Given the description of an element on the screen output the (x, y) to click on. 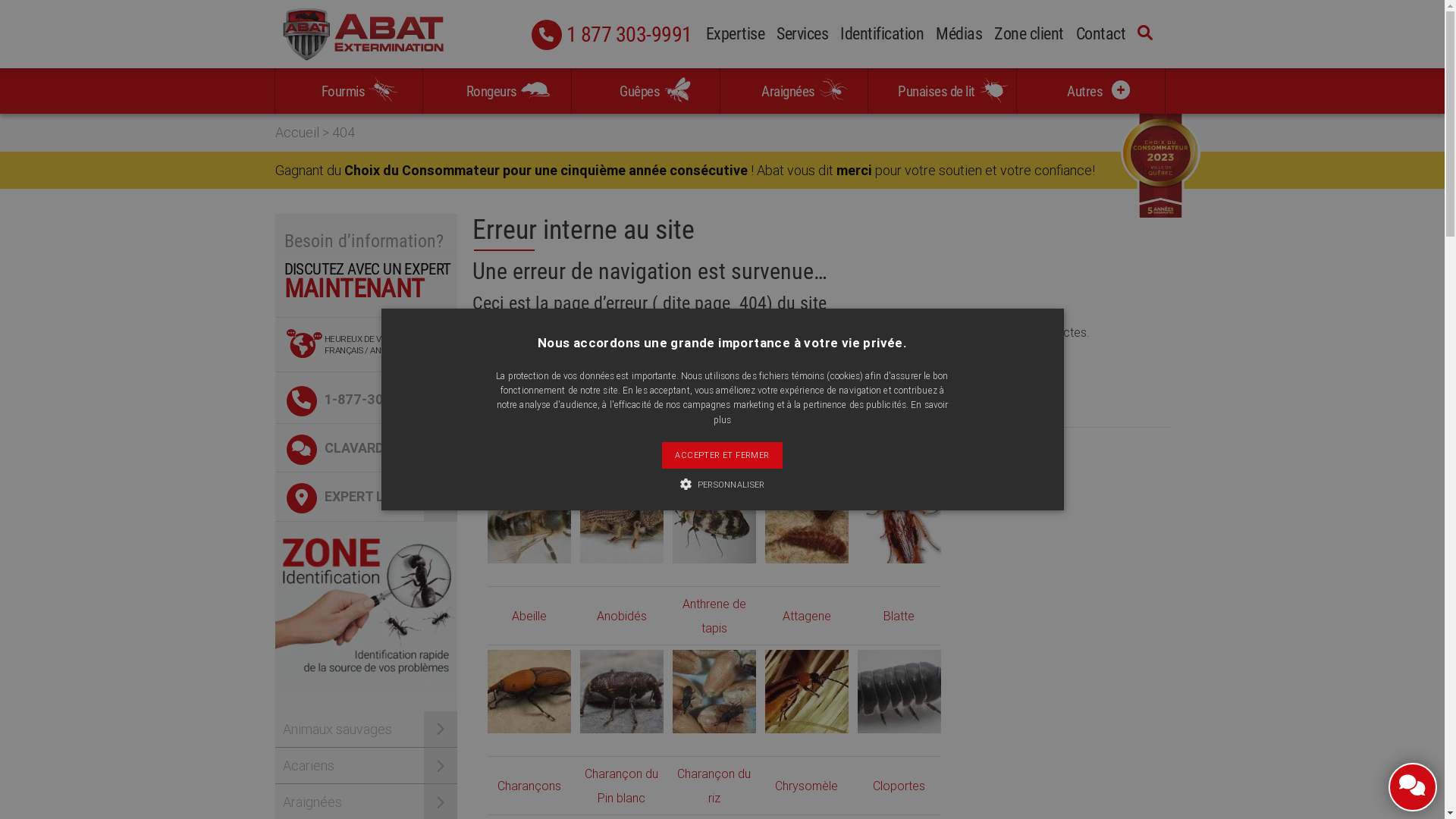
attagene Element type: hover (805, 521)
Attagene Element type: text (806, 615)
Fourmis Element type: text (348, 90)
anobides Element type: hover (620, 521)
Zone client Element type: text (1029, 35)
Skip to primary navigation Element type: text (0, 0)
Contact Element type: text (1100, 35)
Abeille Element type: text (528, 615)
Page d accueil Abat extermination Element type: text (562, 366)
1-877-303-9991 Element type: text (365, 399)
charancon-du-riz Element type: hover (713, 691)
Expertise Element type: text (734, 35)
Rongeurs Element type: text (497, 90)
Acariens Element type: text (365, 765)
cloportes Element type: hover (898, 691)
Autres Element type: text (1090, 90)
abeilles Element type: hover (528, 521)
DISCUTEZ AVEC UN EXPERT MAINTENANT Element type: text (365, 288)
Cloportes Element type: text (898, 785)
Anthrene de tapis Element type: text (714, 615)
anthrene-des-tapis Element type: hover (713, 521)
Services Element type: text (802, 35)
En savoir plus Element type: text (830, 411)
blattes Element type: hover (898, 521)
Identification Element type: text (881, 35)
1 877 303-9991 Element type: text (693, 37)
Blatte Element type: text (898, 615)
EXPERT LOCAL Element type: text (365, 496)
Accueil Element type: text (296, 132)
Animaux sauvages Element type: text (365, 729)
CLAVARDAGE Element type: text (365, 447)
Punaises de lit Element type: text (942, 90)
